Given the description of an element on the screen output the (x, y) to click on. 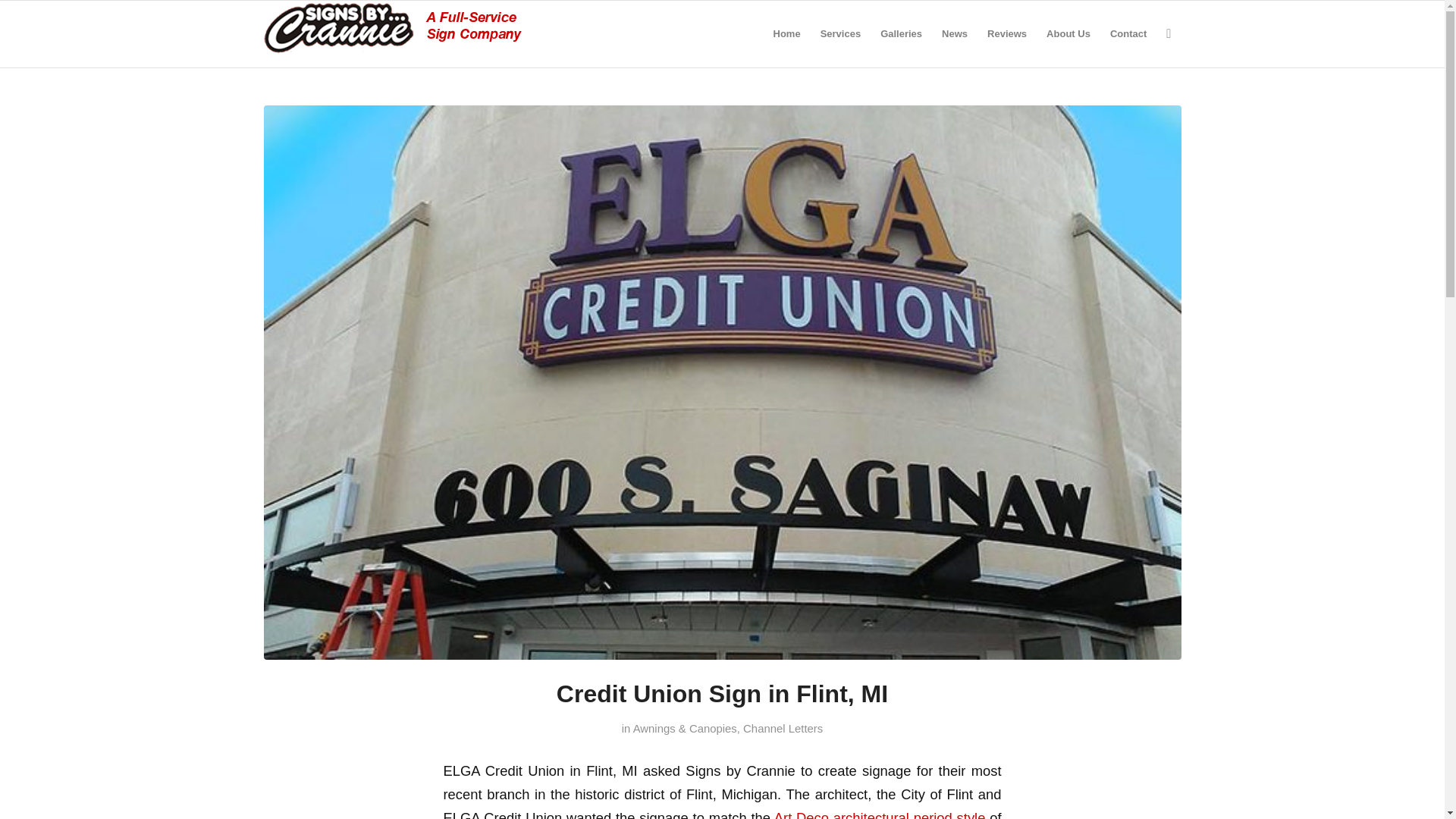
Galleries (900, 33)
Art Deco architectural period style (879, 814)
signs-by-crannie-logo-sm (392, 27)
Channel Letters (782, 728)
signs-by-crannie-logo-sm (392, 33)
Services (840, 33)
About Us (1068, 33)
